Given the description of an element on the screen output the (x, y) to click on. 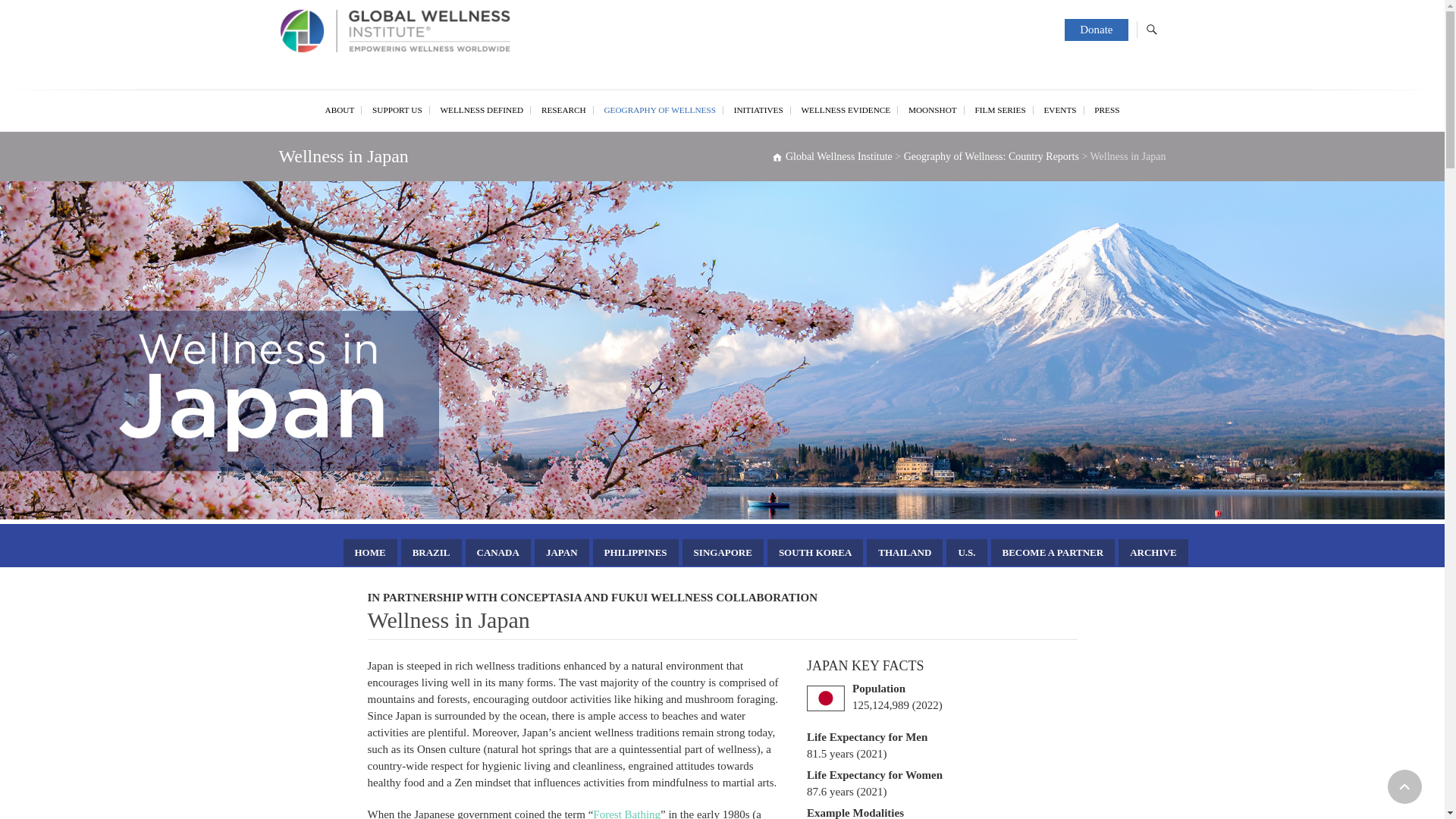
Global Wellness Institute (419, 33)
ABOUT (339, 110)
Global Wellness Institute (374, 96)
Go to Global Wellness Institute. (831, 156)
RESEARCH (564, 110)
Global Wellness Institute (374, 96)
Go to Geography of Wellness: Country Reports. (991, 156)
GEOGRAPHY OF WELLNESS (659, 110)
WELLNESS DEFINED (481, 110)
SUPPORT US (397, 110)
Donate (1095, 29)
Go to Top (1404, 786)
